Given the description of an element on the screen output the (x, y) to click on. 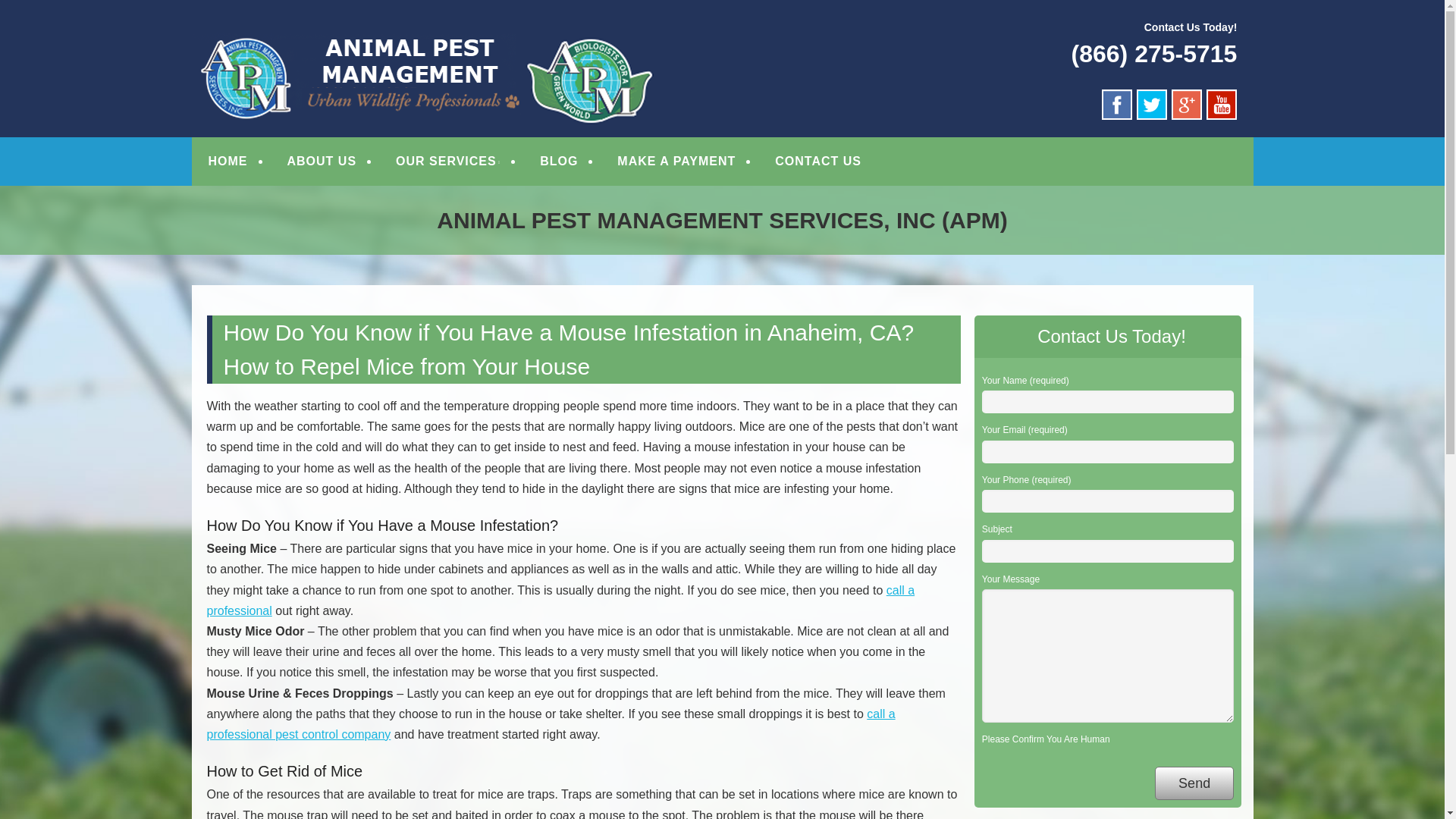
ABOUT US (321, 161)
OUR SERVICES (448, 161)
BLOG (558, 161)
call a professional pest control company (550, 724)
Send (1193, 783)
call a professional (560, 600)
MAKE A PAYMENT (676, 161)
HOME (227, 161)
CONTACT US (818, 161)
ANIMAL PEST MANAGEMENT (400, 32)
Animal Pest Management (400, 32)
